Given the description of an element on the screen output the (x, y) to click on. 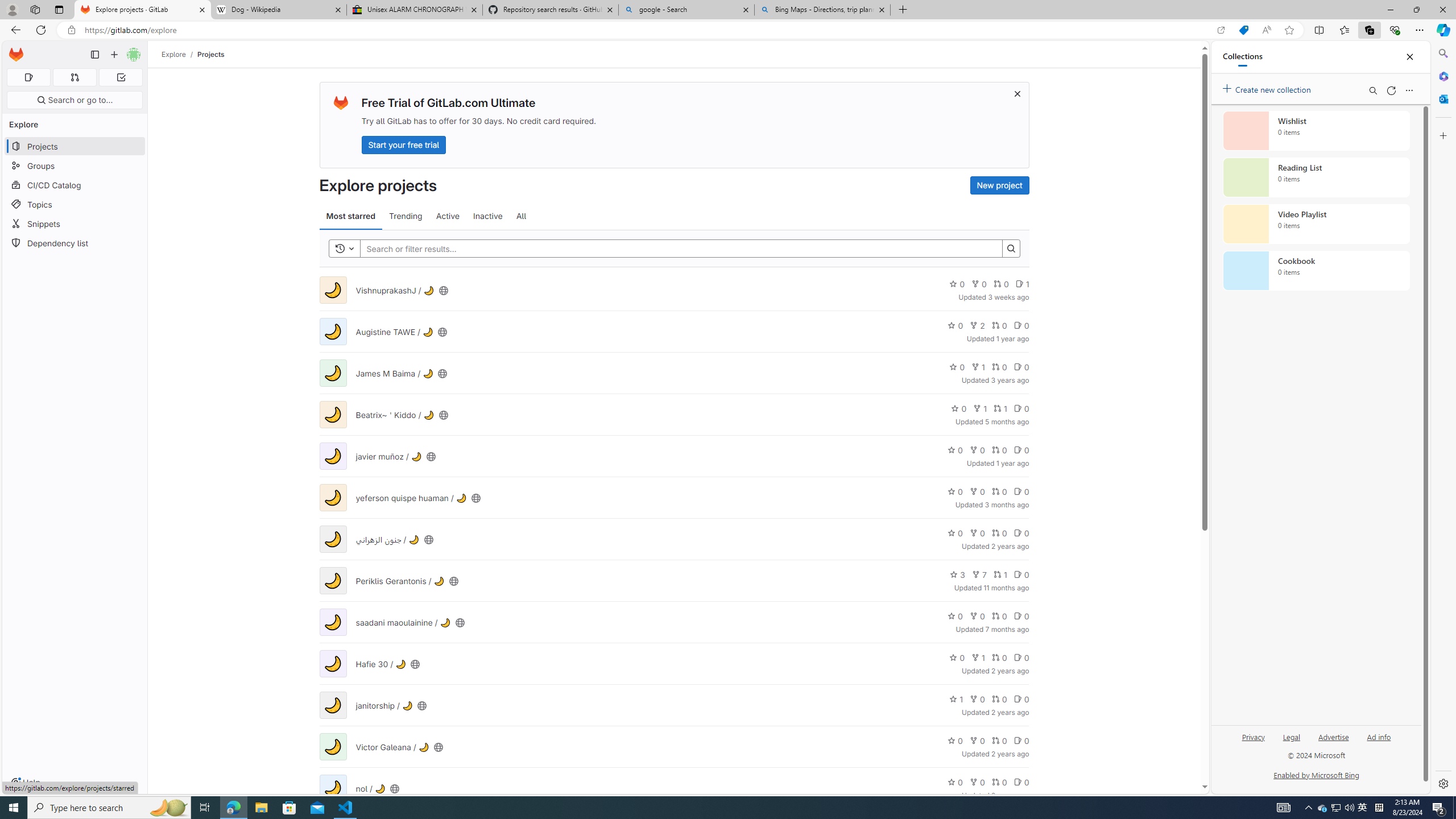
Open in app (1220, 29)
You have the best price! (1243, 29)
Class: s14 gl-mr-2 (1017, 782)
Start your free trial (403, 144)
Dismiss trial promotion (1017, 93)
Projects (211, 53)
Active (448, 216)
